Given the description of an element on the screen output the (x, y) to click on. 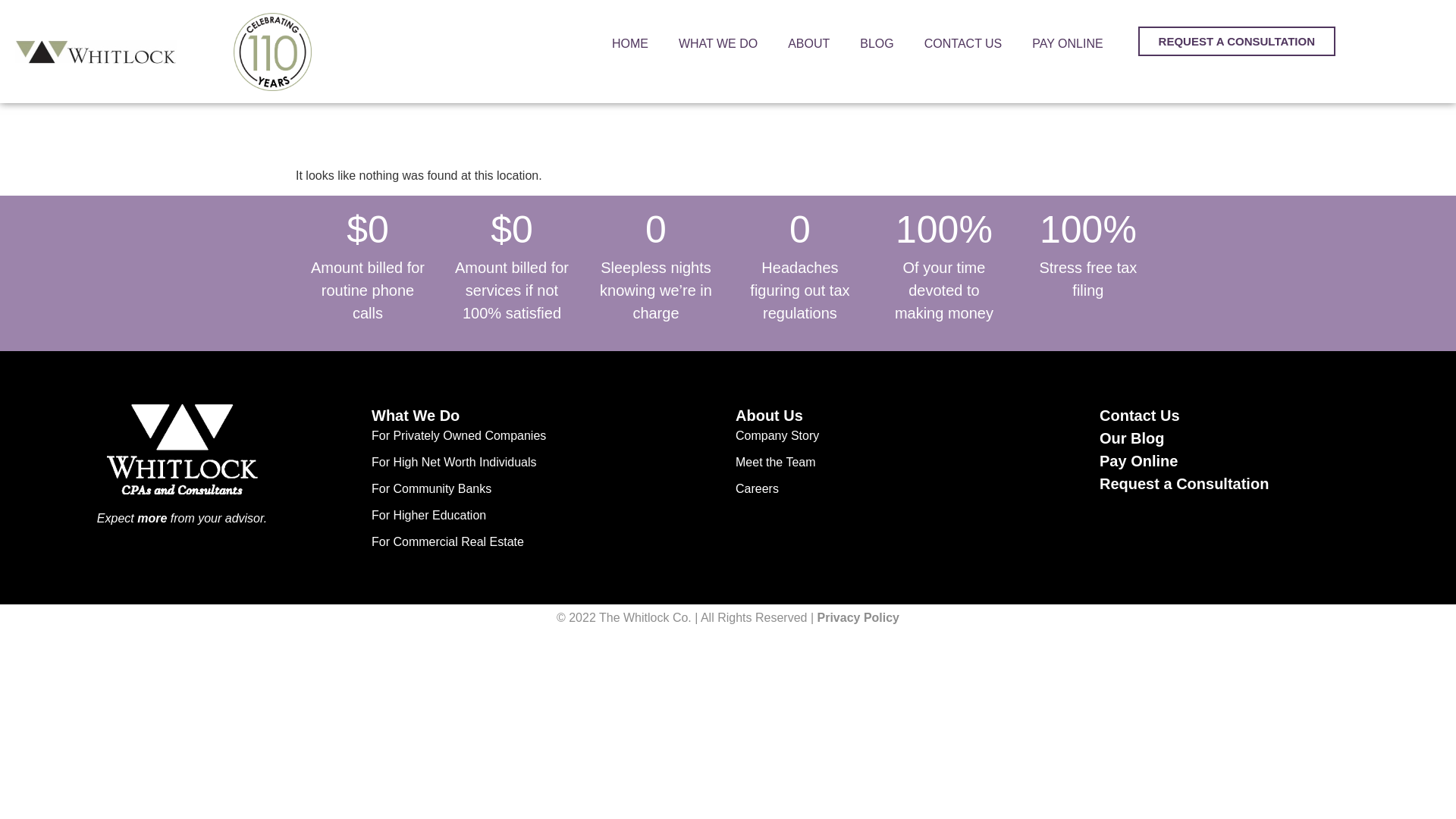
HOME (629, 43)
ABOUT (808, 43)
CONTACT US (962, 43)
PAY ONLINE (1067, 43)
BLOG (876, 43)
WHAT WE DO (718, 43)
